Given the description of an element on the screen output the (x, y) to click on. 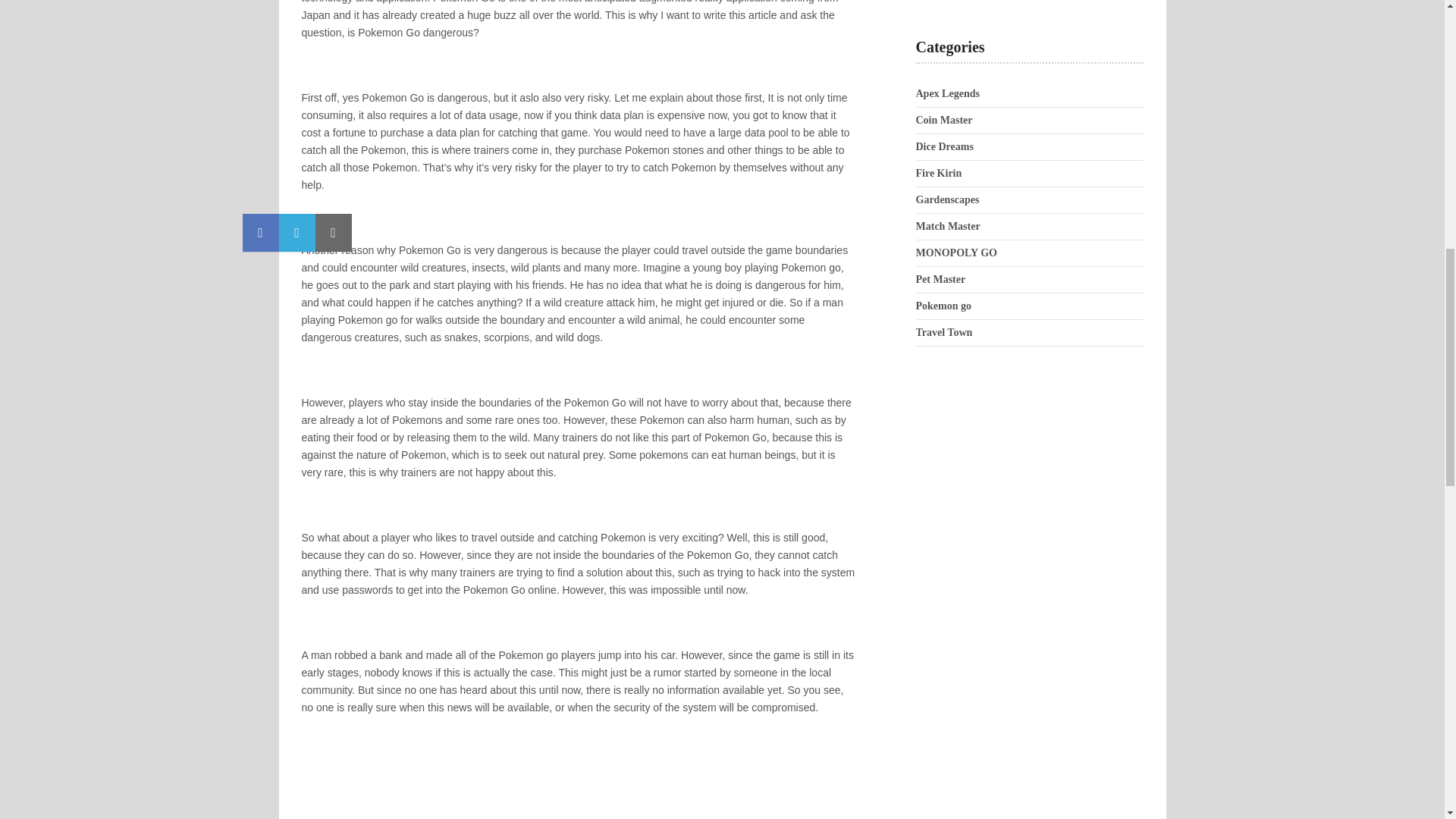
Match Master (947, 225)
Apex Legends (947, 93)
MONOPOLY GO (956, 252)
Dice Dreams (944, 146)
Travel Town (943, 332)
Pokemon go (943, 306)
Gardenscapes (947, 199)
Fire Kirin (938, 173)
Pet Master (940, 279)
Coin Master (943, 120)
